Given the description of an element on the screen output the (x, y) to click on. 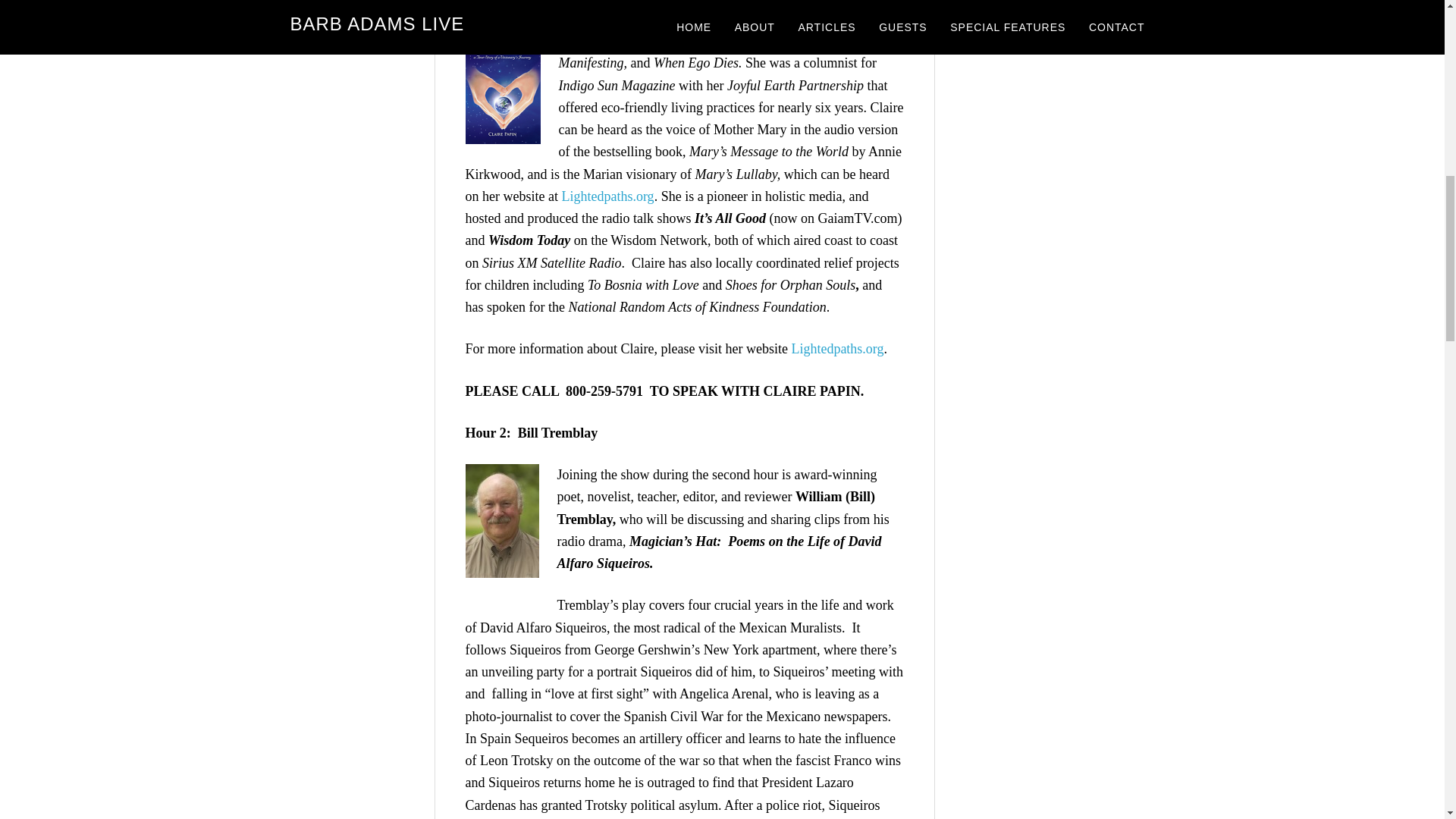
Lightedpaths.org (606, 196)
Lightedpaths.org (836, 348)
